Given the description of an element on the screen output the (x, y) to click on. 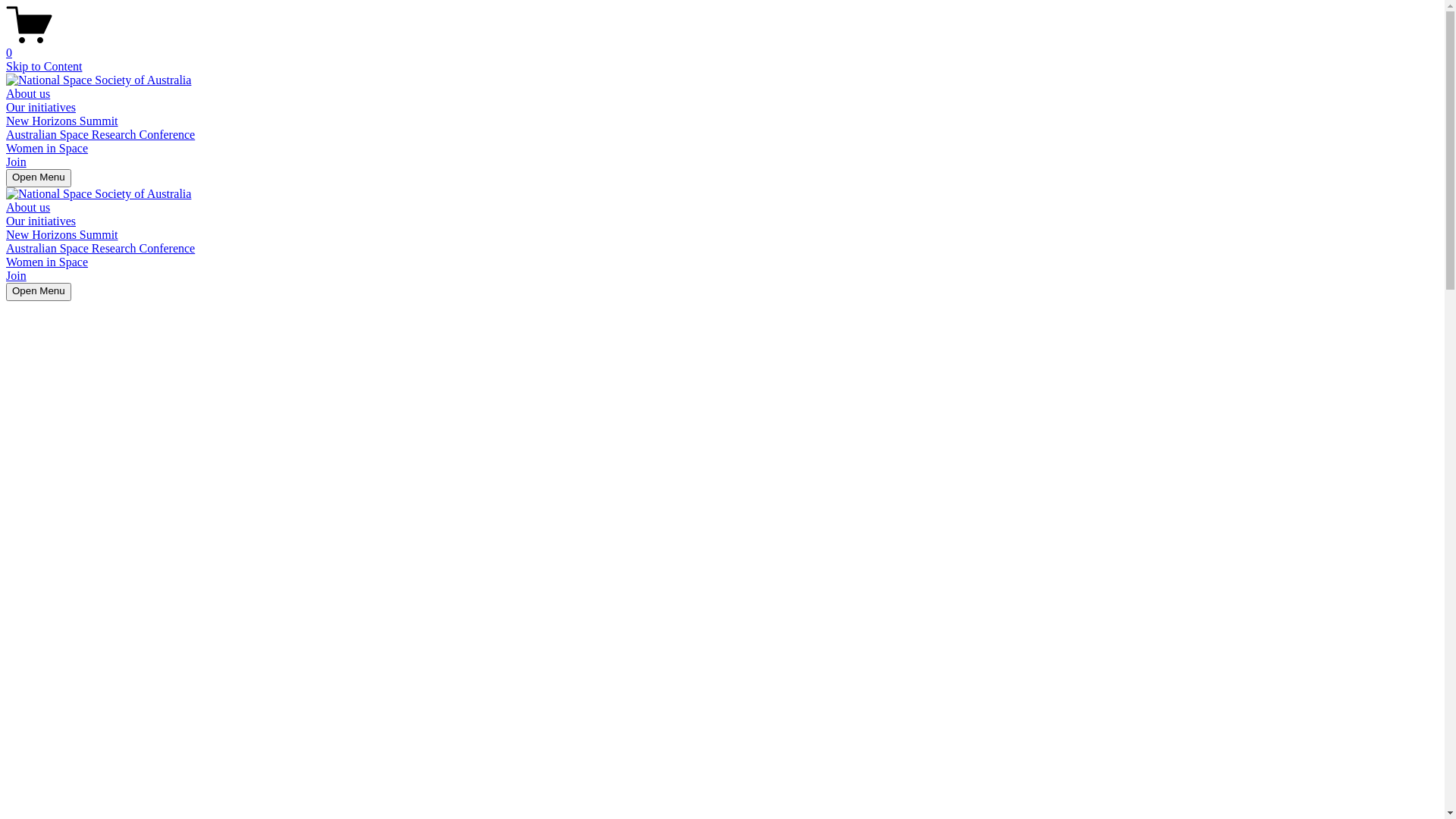
About us Element type: text (28, 206)
About us Element type: text (28, 93)
0 Element type: text (722, 45)
Open Menu Element type: text (38, 178)
Our initiatives Element type: text (40, 106)
Australian Space Research Conference Element type: text (100, 247)
Skip to Content Element type: text (43, 65)
New Horizons Summit Element type: text (62, 120)
New Horizons Summit Element type: text (62, 234)
Our initiatives Element type: text (40, 220)
Australian Space Research Conference Element type: text (100, 134)
Women in Space Element type: text (46, 261)
Open Menu Element type: text (38, 291)
Join Element type: text (16, 275)
Join Element type: text (16, 161)
Women in Space Element type: text (46, 147)
